Given the description of an element on the screen output the (x, y) to click on. 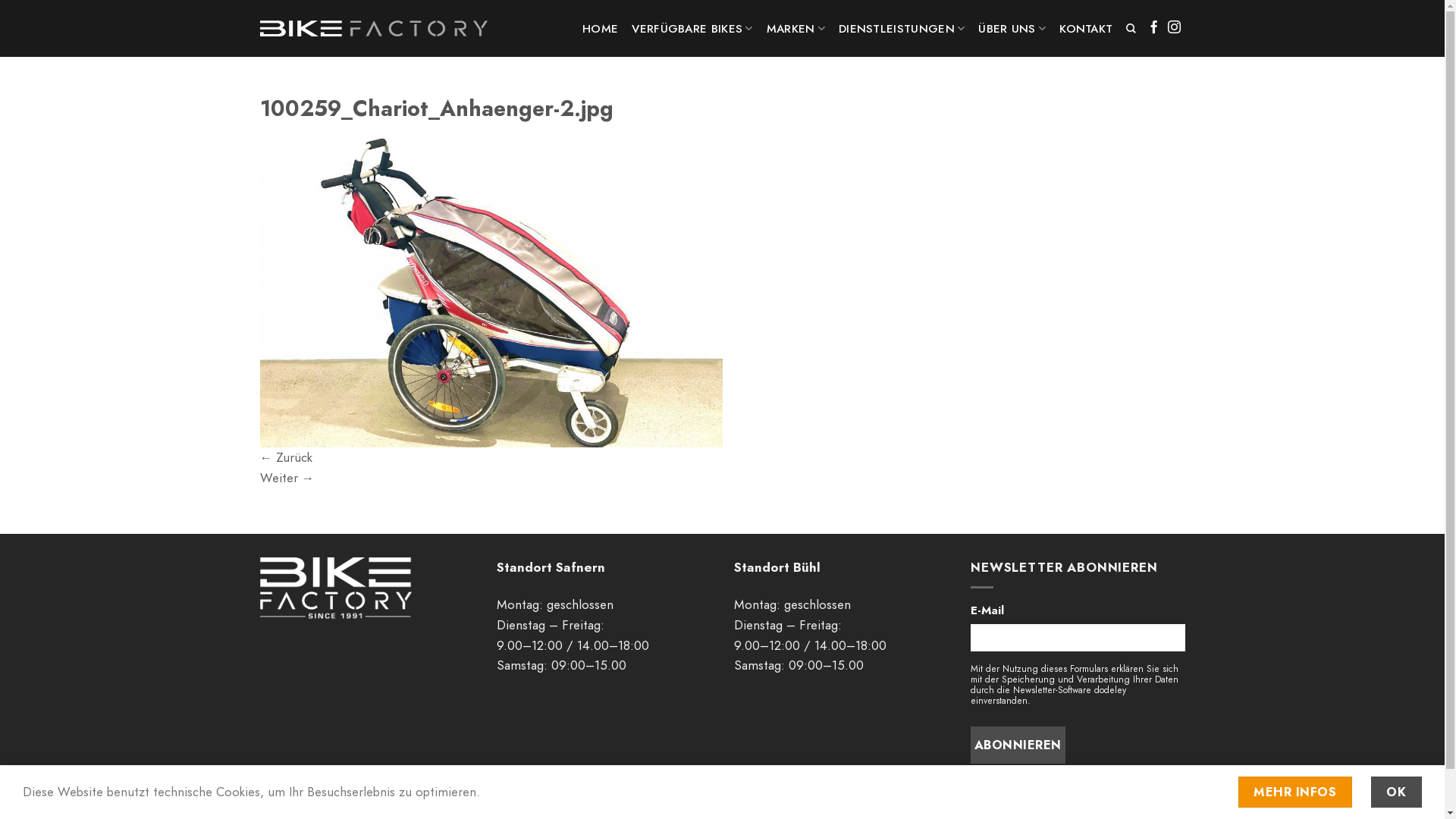
OK Element type: text (1396, 791)
B-Factory - Der E-Bike-Spezialist Element type: hover (372, 28)
HOME Element type: text (600, 28)
MEHR INFOS Element type: text (1295, 791)
Auf Instagram folgen Element type: hover (1173, 27)
KONTAKT Element type: text (1085, 28)
MARKEN Element type: text (795, 28)
DIENSTLEISTUNGEN Element type: text (901, 28)
Abonnieren Element type: text (1017, 744)
dodeley Element type: text (1110, 689)
Auf Facebook folgen Element type: hover (1153, 27)
100259_Chariot_Anhaenger-2.jpg Element type: hover (490, 288)
